Given the description of an element on the screen output the (x, y) to click on. 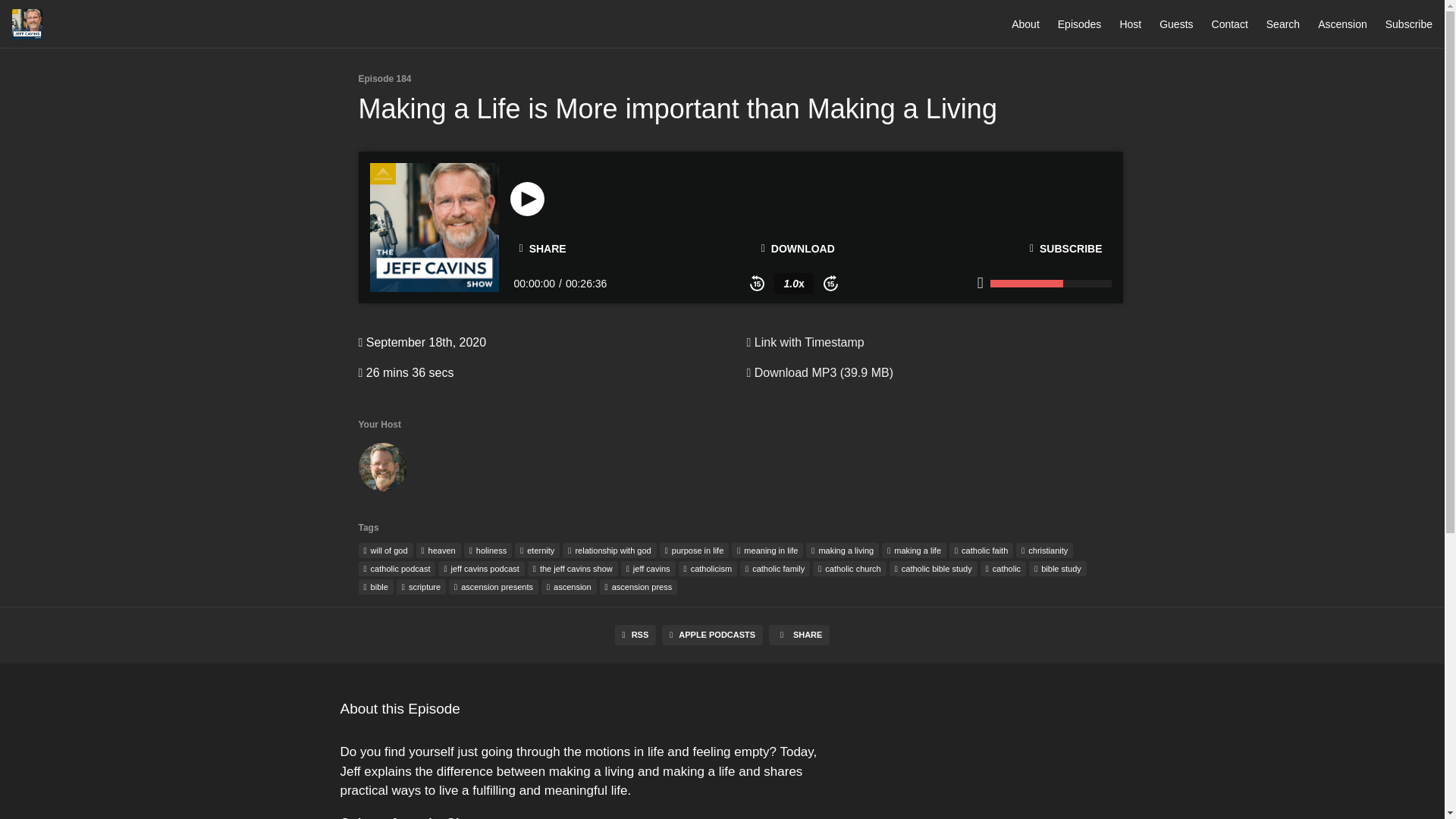
Ascension (1342, 24)
About (1025, 24)
Host (1130, 24)
Contact (1229, 24)
Link with Timestamp (804, 341)
making a living (842, 549)
making a life (914, 549)
holiness (488, 549)
relationship with god (609, 549)
1.0x (793, 283)
SHARE (542, 248)
Jeff Cavins (382, 470)
jeff cavins podcast (481, 568)
DOWNLOAD (798, 248)
Search (1283, 24)
